Given the description of an element on the screen output the (x, y) to click on. 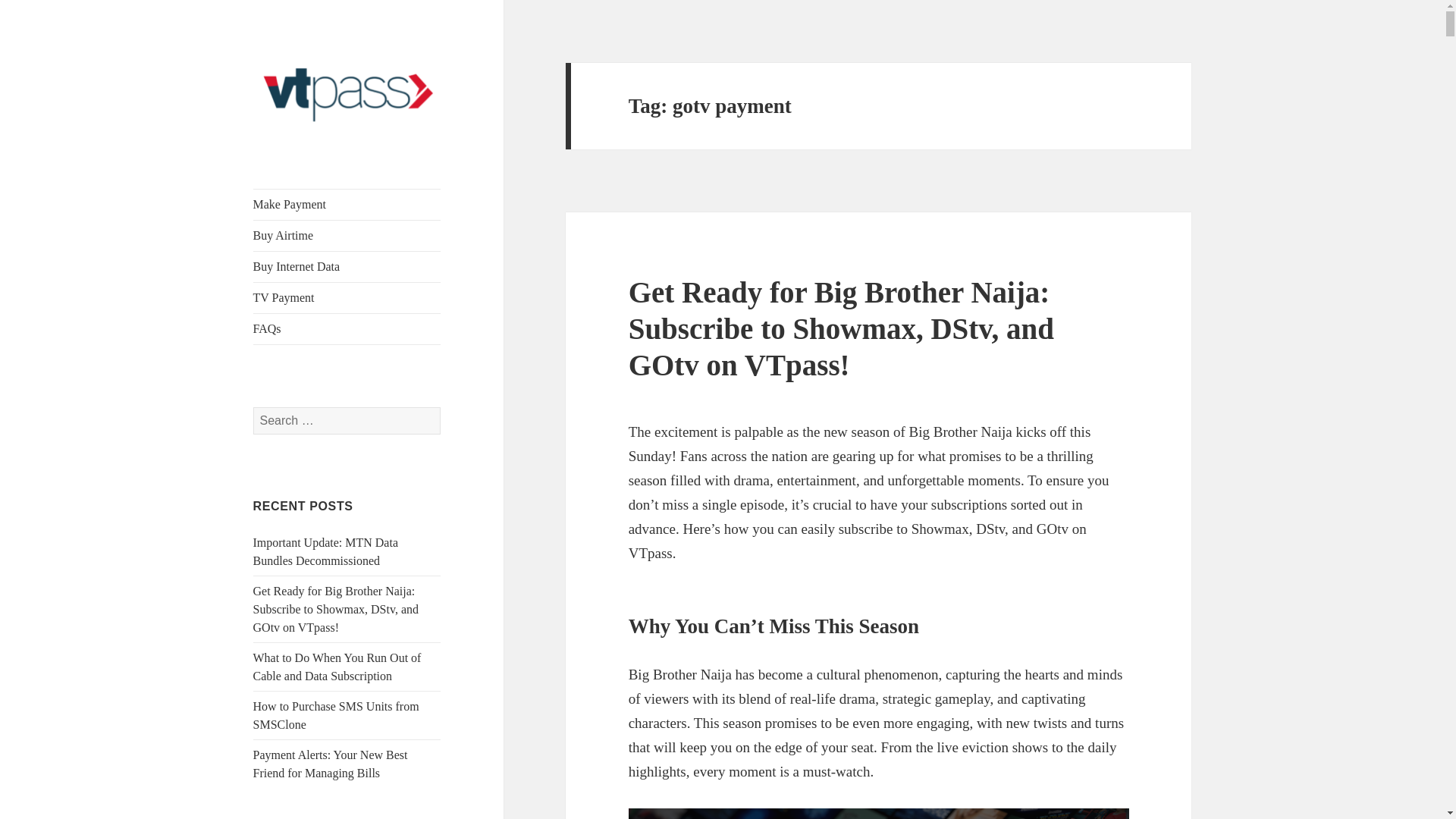
Make Payment (347, 204)
Payment Alerts: Your New Best Friend for Managing Bills (330, 763)
Buy Airtime (347, 235)
Buy Internet Data (347, 266)
What to Do When You Run Out of Cable and Data Subscription (337, 666)
FAQs (347, 328)
TV Payment (347, 297)
How to Purchase SMS Units from SMSClone (336, 715)
Important Update: MTN Data Bundles Decommissioned (325, 551)
